Given the description of an element on the screen output the (x, y) to click on. 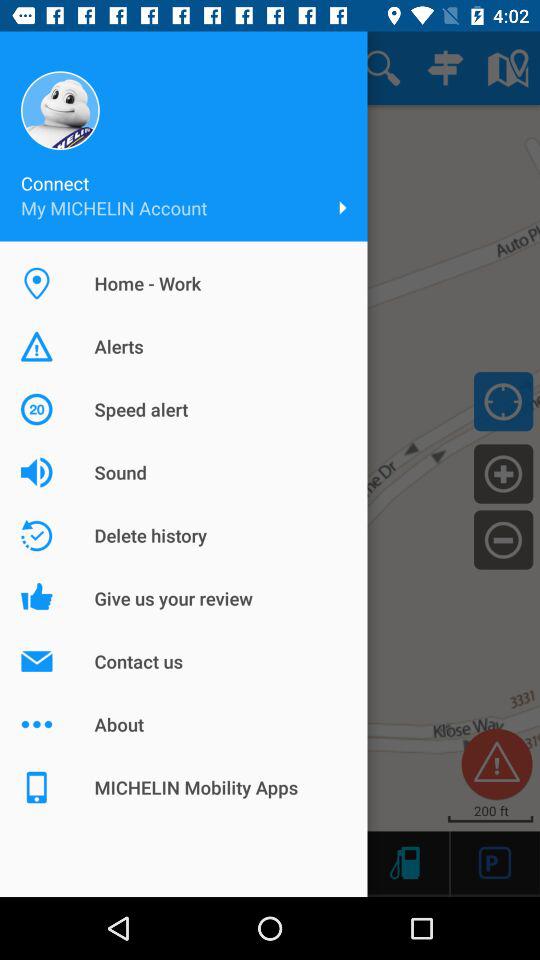
go to advertisement (494, 862)
